Given the description of an element on the screen output the (x, y) to click on. 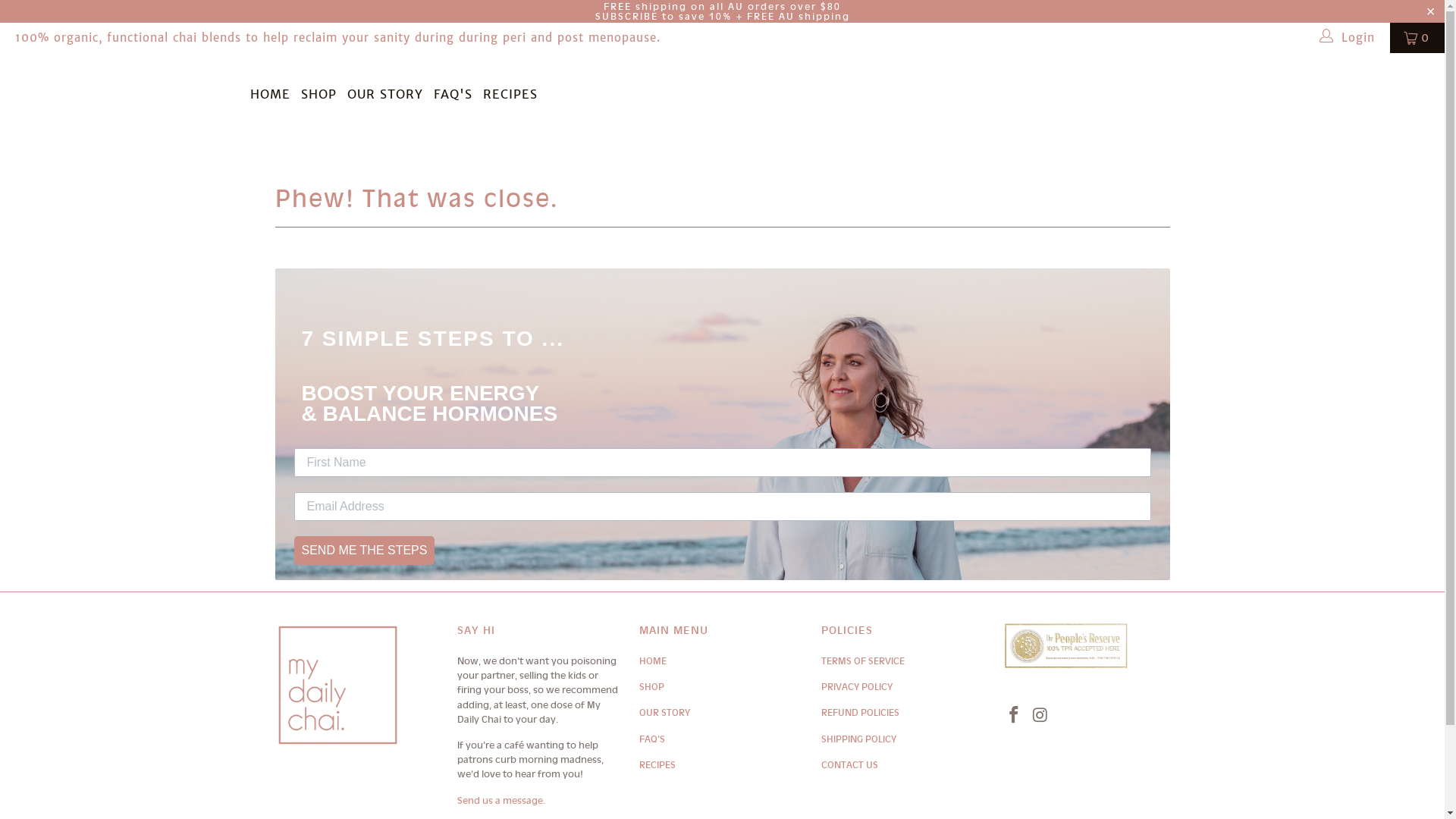
SHOP Element type: text (318, 93)
mydailychai Element type: hover (123, 104)
CONTACT US Element type: text (848, 764)
RECIPES Element type: text (656, 764)
OUR STORY Element type: text (663, 712)
SEND ME THE STEPS Element type: text (364, 550)
HOME Element type: text (270, 93)
HOME Element type: text (651, 660)
Submit Element type: text (36, 16)
TERMS OF SERVICE Element type: text (861, 660)
Login Element type: text (1348, 37)
RECIPES Element type: text (510, 93)
SHIPPING POLICY Element type: text (857, 737)
SHOP Element type: text (650, 686)
Send us a message. Element type: text (500, 799)
FAQ'S Element type: text (651, 737)
OUR STORY Element type: text (385, 93)
REFUND POLICIES Element type: text (859, 712)
0 Element type: text (1417, 37)
mydailychai on Instagram Element type: hover (1040, 715)
PRIVACY POLICY Element type: text (855, 686)
mydailychai on Facebook Element type: hover (1013, 715)
FAQ'S Element type: text (452, 93)
